Given the description of an element on the screen output the (x, y) to click on. 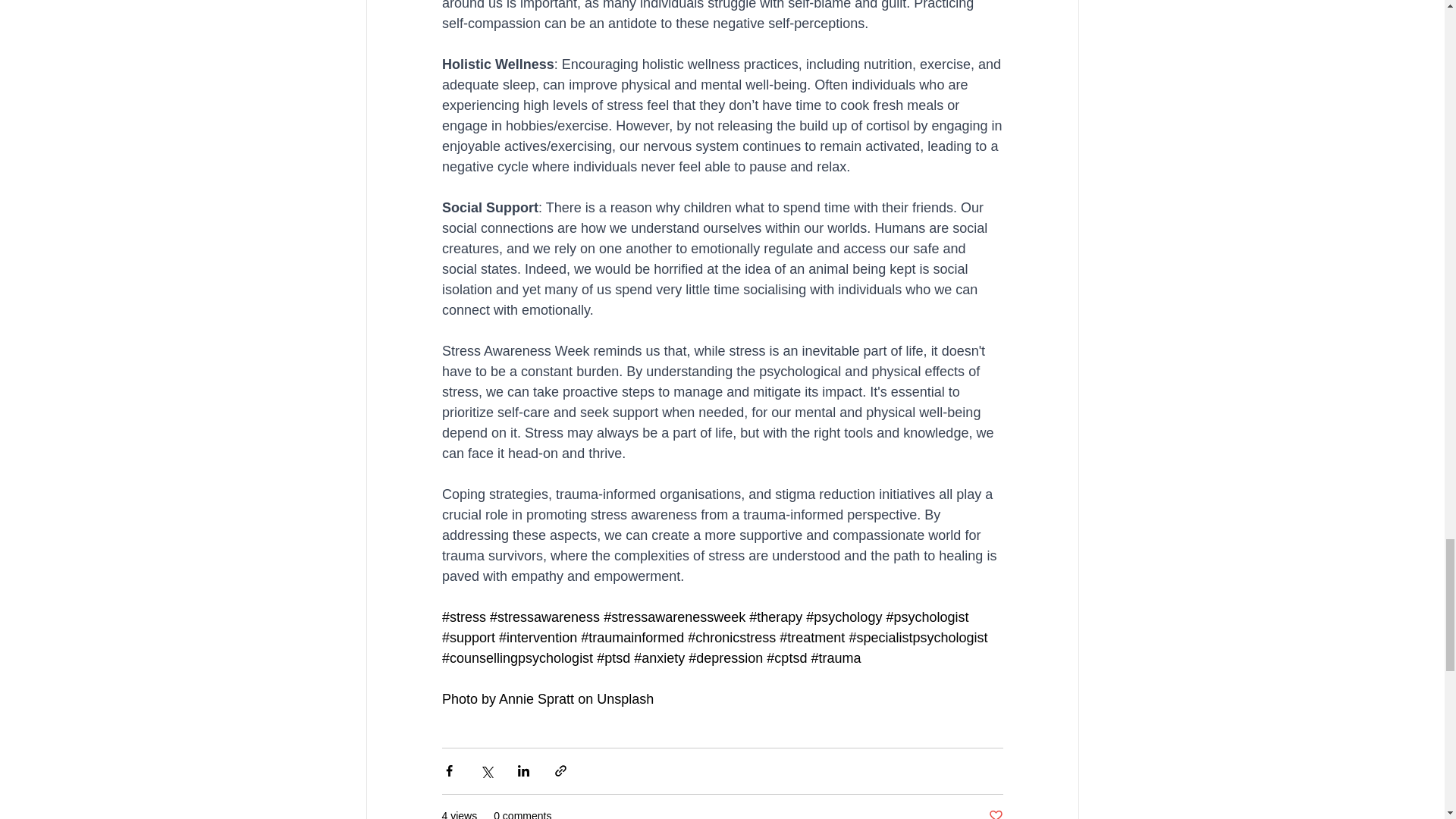
Unsplash (624, 698)
Post not marked as liked (995, 813)
Annie Spratt (536, 698)
